Given the description of an element on the screen output the (x, y) to click on. 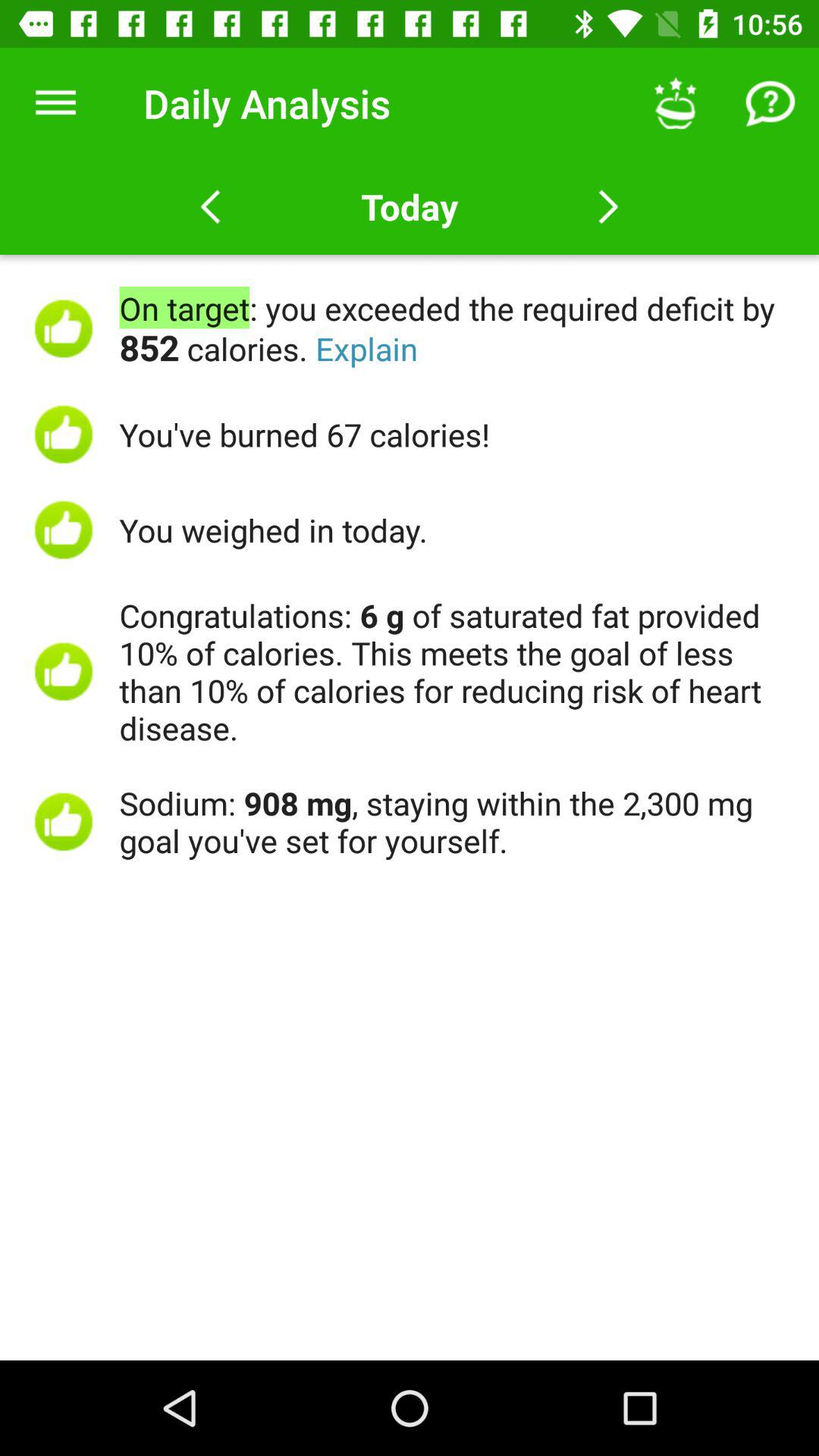
back button (210, 206)
